Given the description of an element on the screen output the (x, y) to click on. 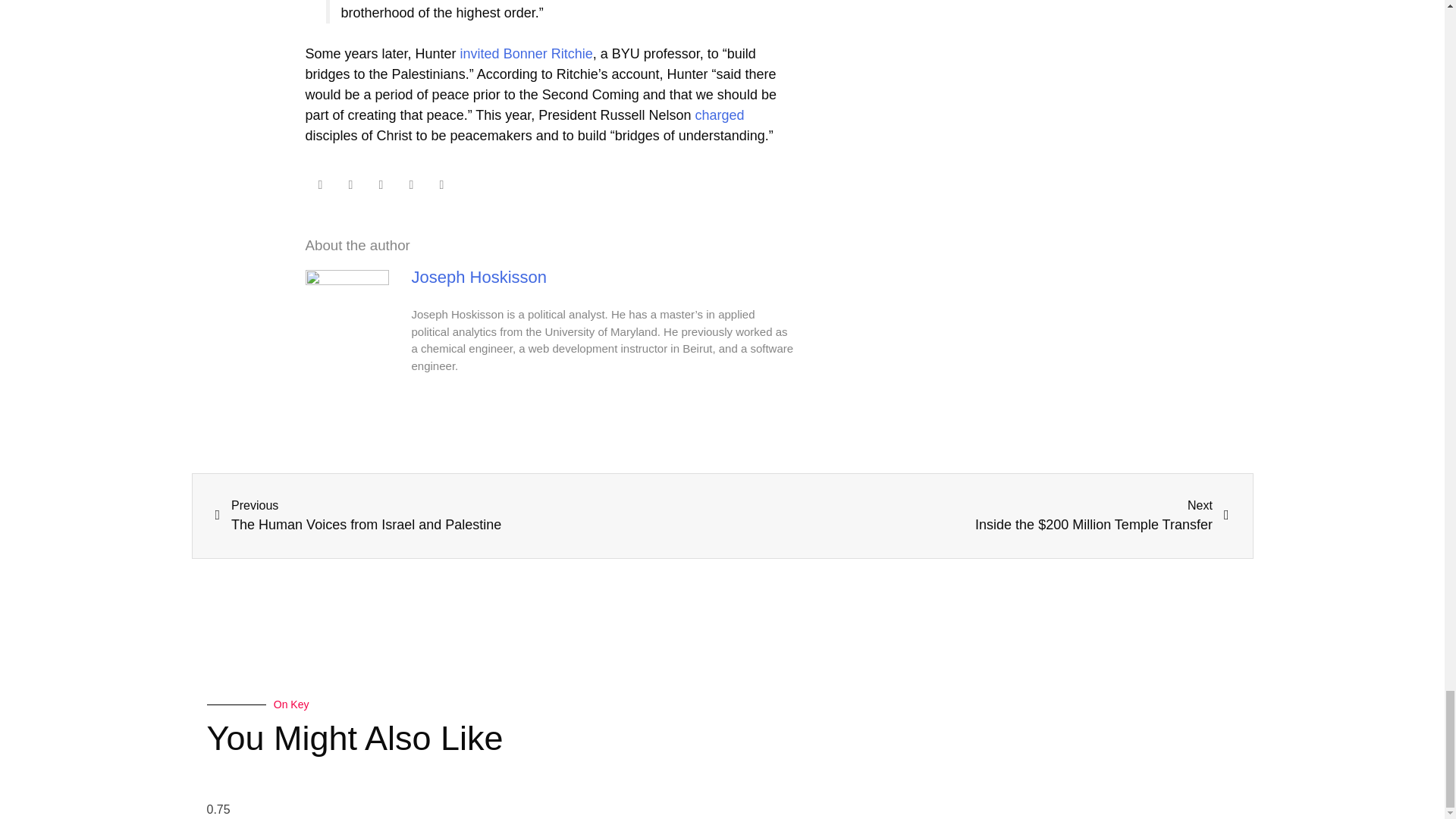
invited Bonner Ritchie (526, 53)
Joseph Hoskisson (478, 276)
charged (719, 114)
